Given the description of an element on the screen output the (x, y) to click on. 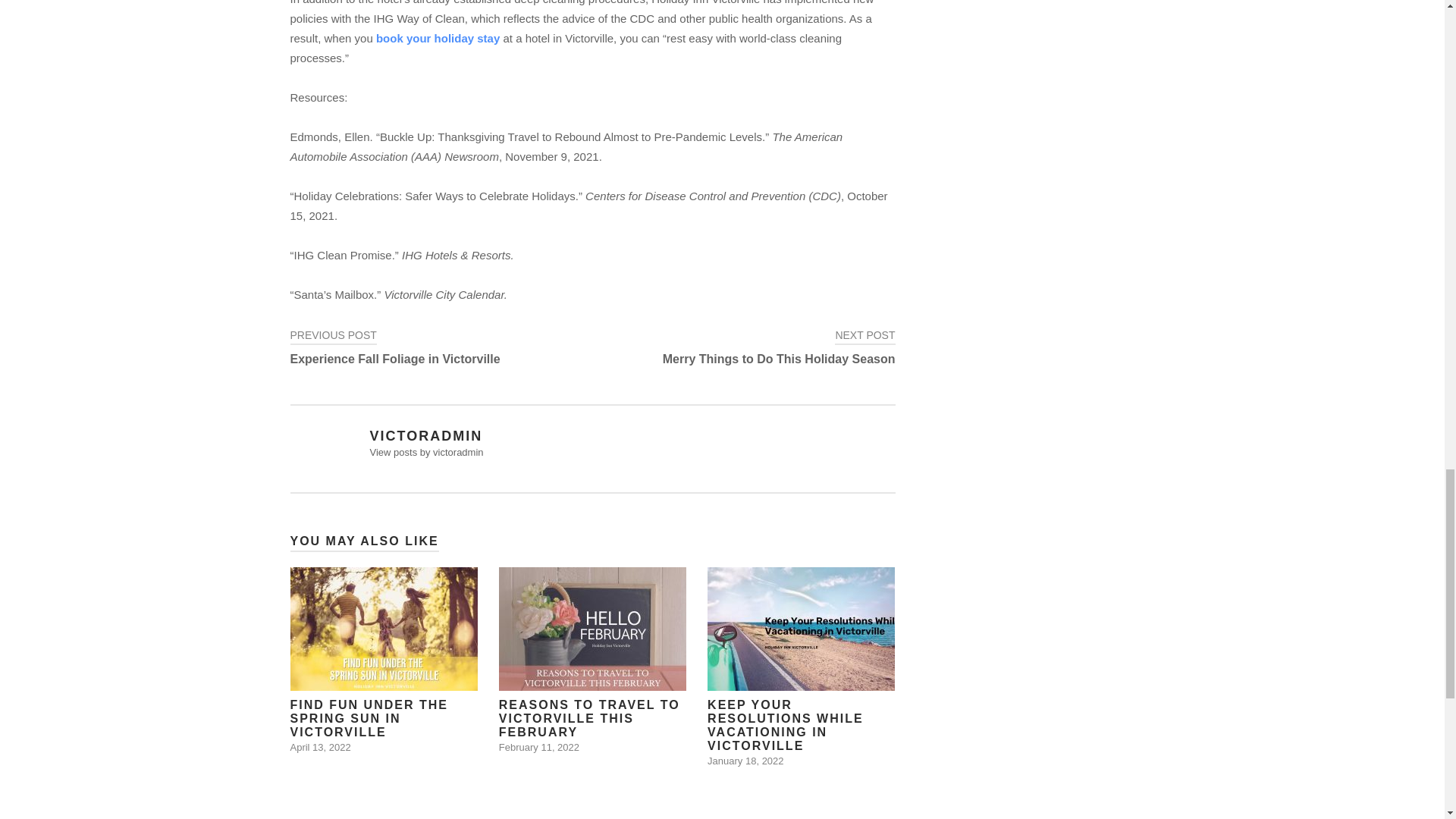
Keep Your Resolutions While Vacationing in Victorville (383, 659)
Find Fun Under the Spring Sun in Victorville (801, 666)
View posts by victoradmin (383, 659)
Reasons to Travel to Victorville This February (743, 347)
book your holiday stay (440, 347)
